Given the description of an element on the screen output the (x, y) to click on. 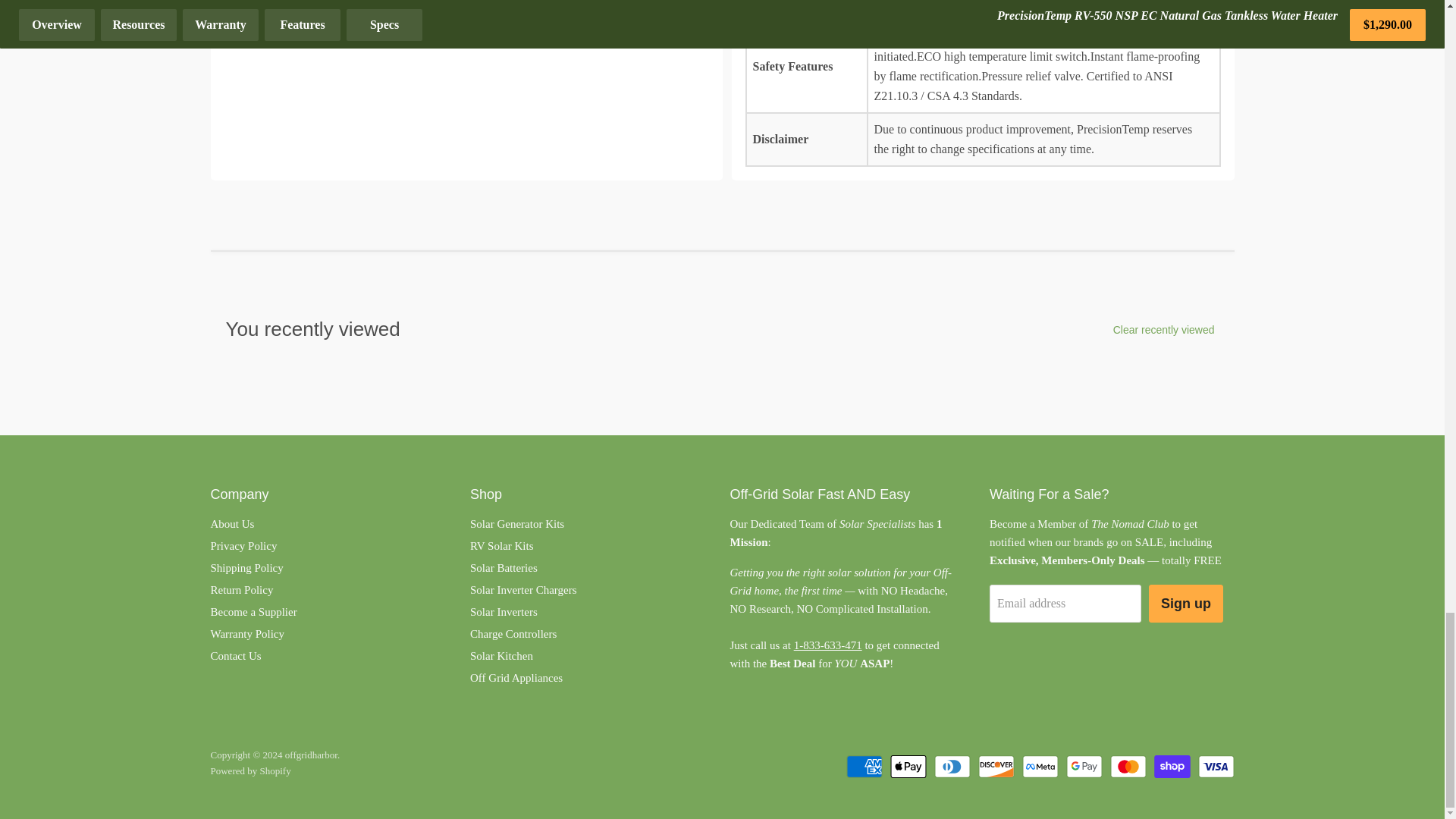
Meta Pay (1040, 766)
Google Pay (1083, 766)
Mastercard (1128, 766)
Discover (996, 766)
Apple Pay (907, 766)
Visa (1216, 766)
Diners Club (952, 766)
Shop Pay (1172, 766)
American Express (863, 766)
